Given the description of an element on the screen output the (x, y) to click on. 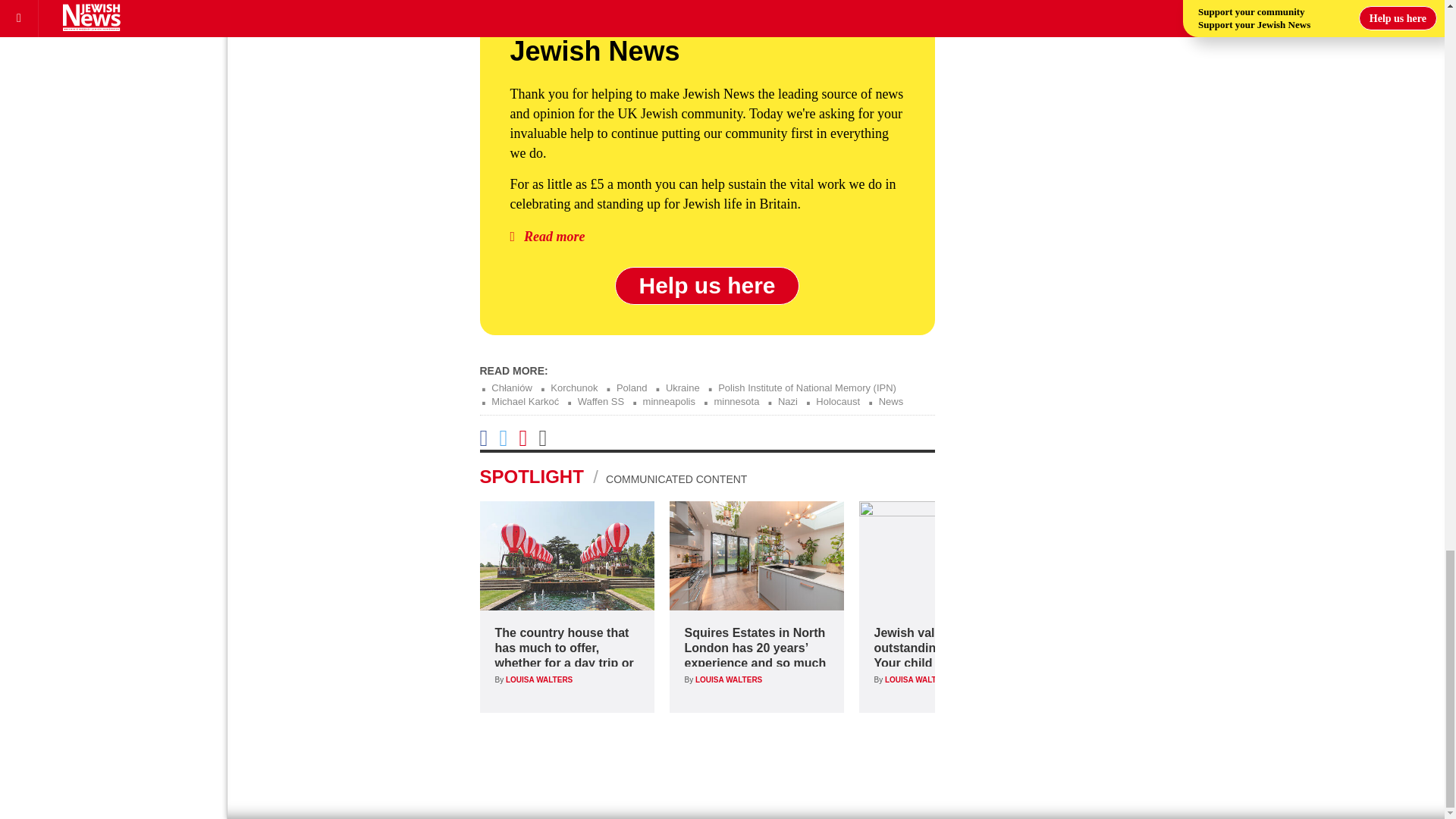
Louisa Walters (728, 679)
Louisa Walters (538, 679)
Louisa Walters (918, 679)
Feast on Cloud 9 at The Grove (566, 555)
